Given the description of an element on the screen output the (x, y) to click on. 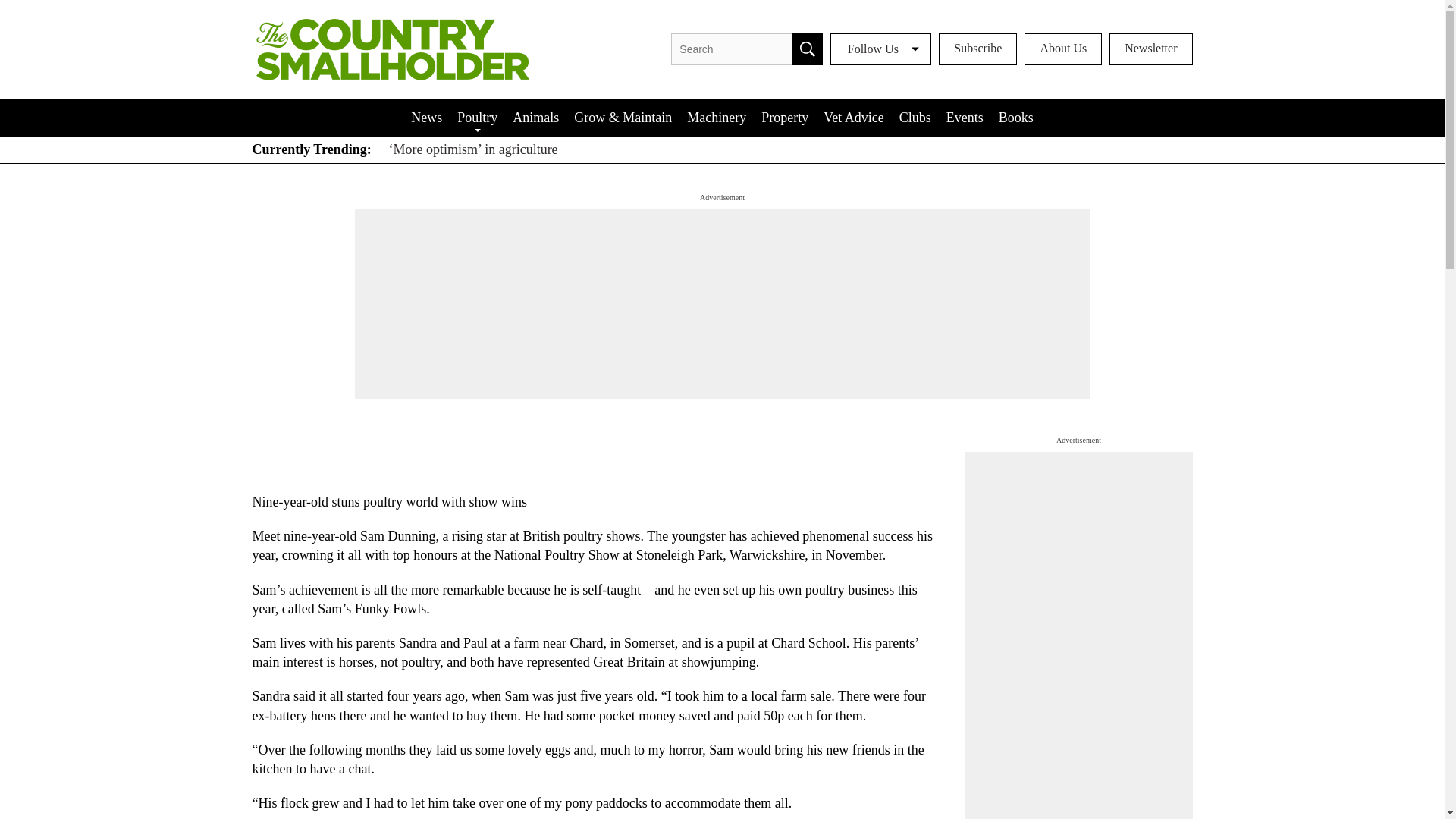
News (426, 117)
Property (784, 117)
Events (965, 117)
Animals (535, 117)
Vet Advice (853, 117)
Machinery (716, 117)
Newsletter (1150, 49)
Subscribe (977, 49)
Books (1016, 117)
Search (807, 49)
